Given the description of an element on the screen output the (x, y) to click on. 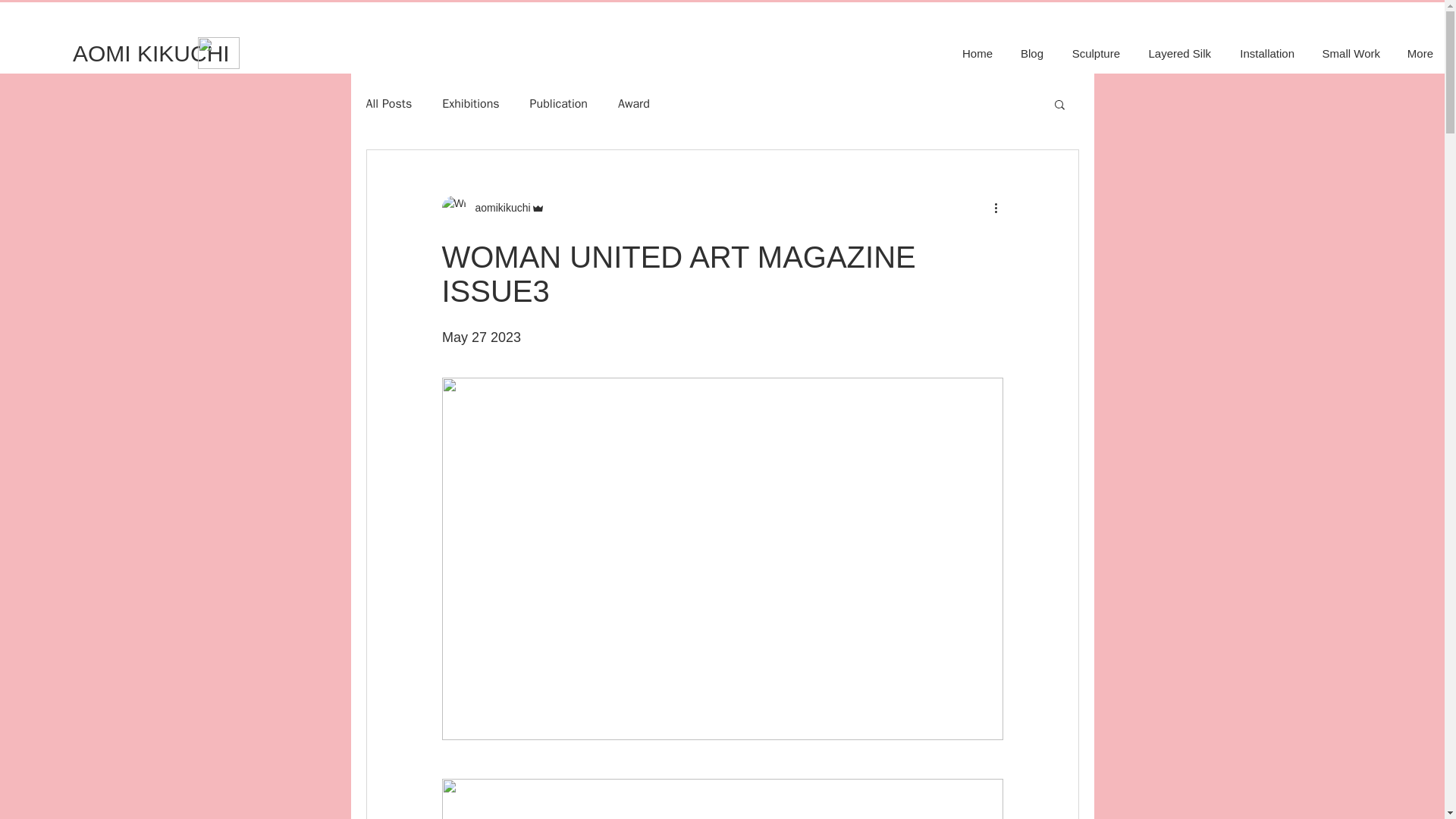
Blog (1029, 53)
aomikikuchi (497, 207)
Award (633, 103)
Exhibitions (470, 103)
Home (974, 53)
Publication (558, 103)
Layered Silk (1177, 53)
Installation (1264, 53)
All Posts (388, 103)
Sculpture (1092, 53)
